Given the description of an element on the screen output the (x, y) to click on. 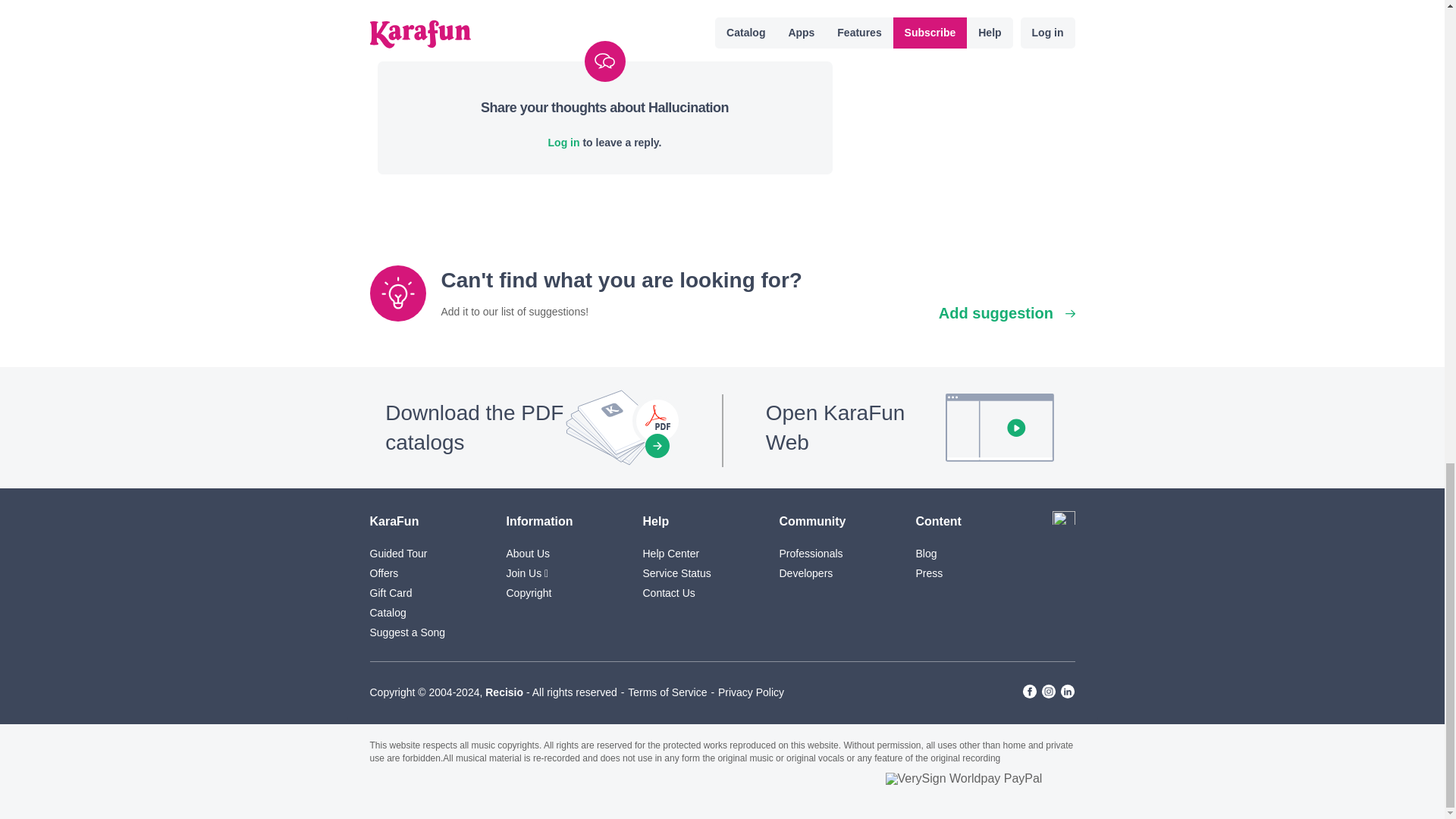
Help Center (671, 553)
Log in (563, 142)
About Us (528, 553)
Download the PDF catalogs (534, 427)
Offers (383, 573)
Copyright (528, 592)
Other countries (1063, 521)
Catalog (387, 612)
Suggest a Song (407, 632)
RECISIO Group (503, 692)
